Given the description of an element on the screen output the (x, y) to click on. 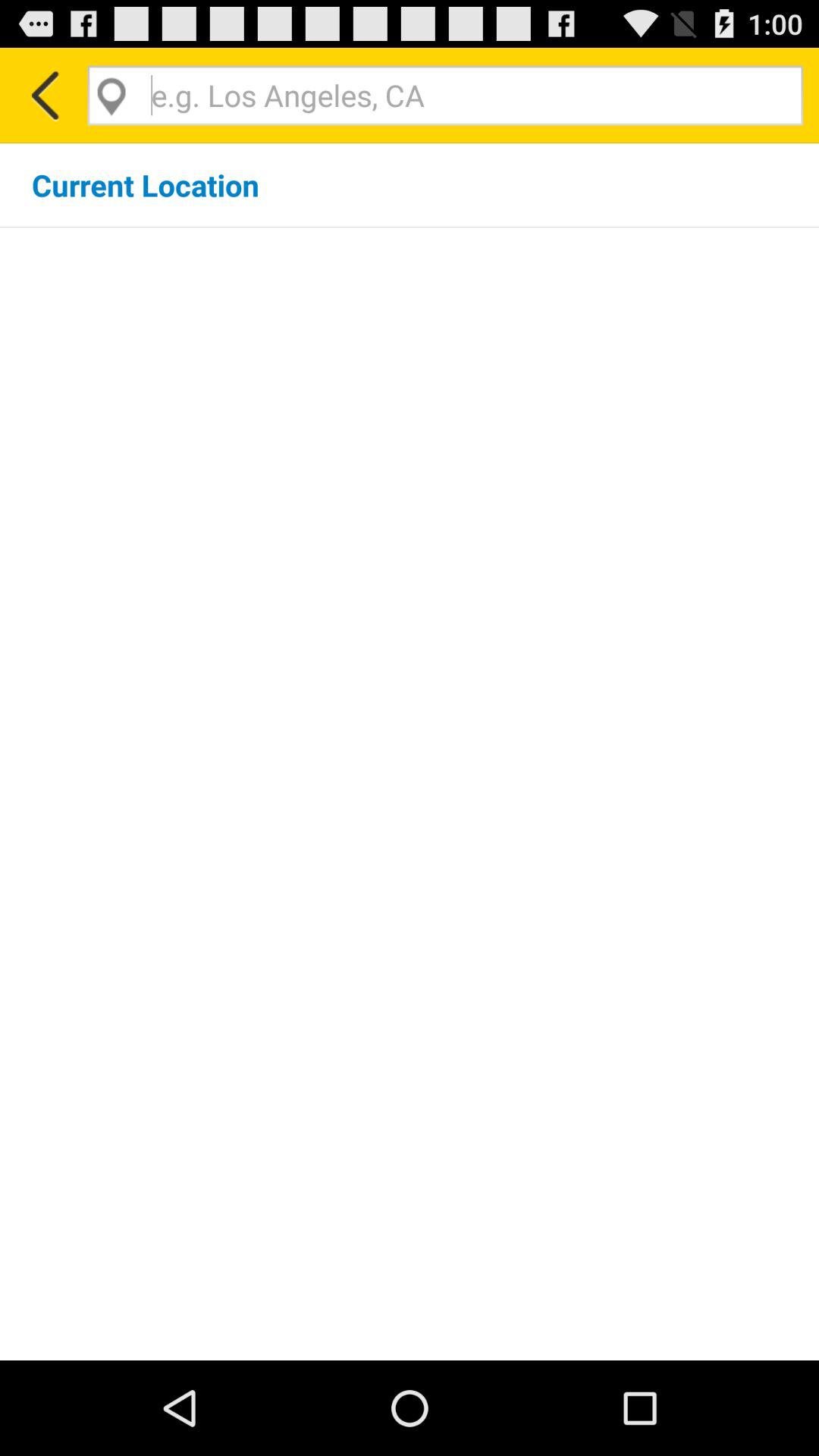
search (445, 95)
